Given the description of an element on the screen output the (x, y) to click on. 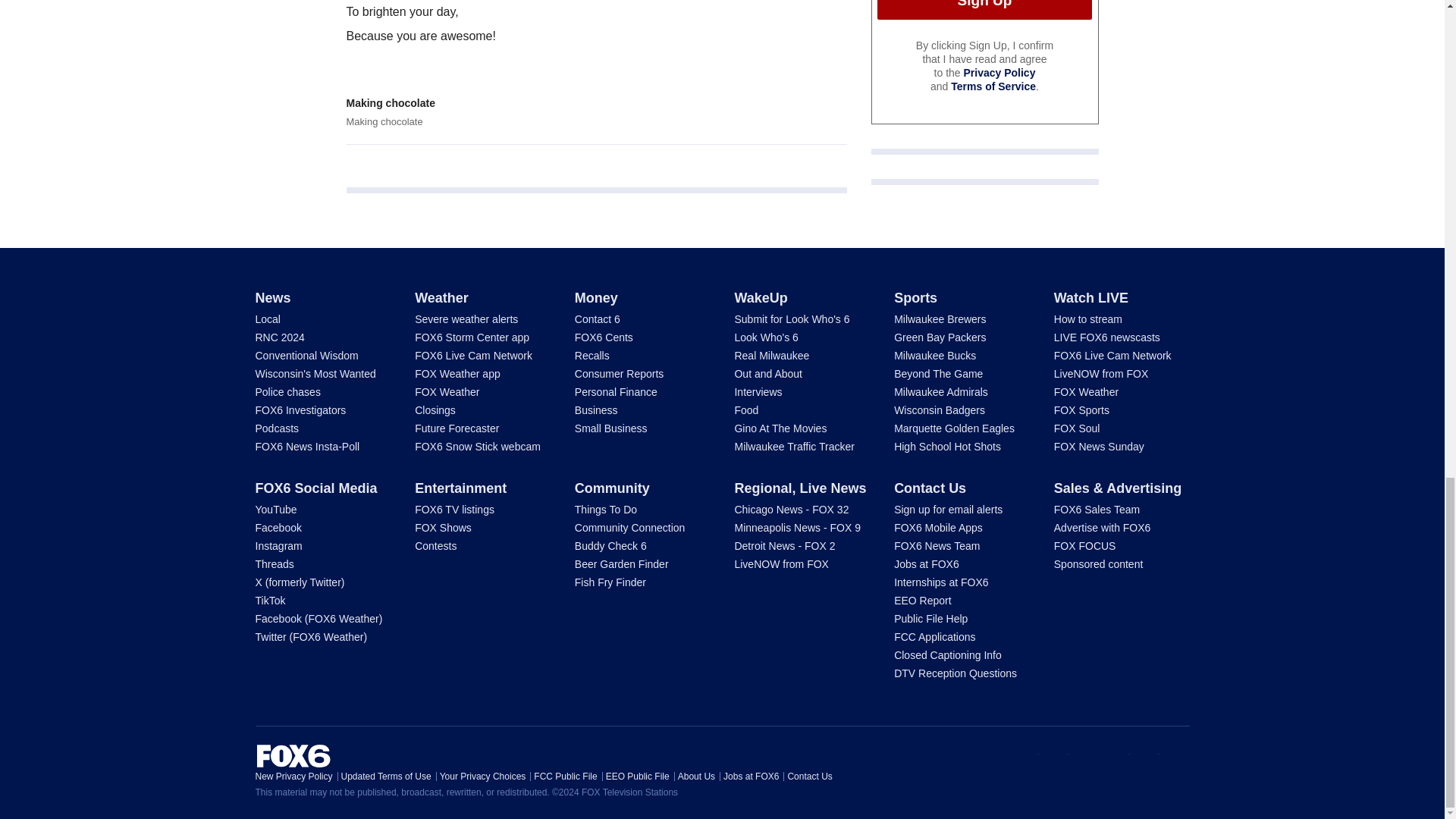
Sign Up (984, 9)
